Given the description of an element on the screen output the (x, y) to click on. 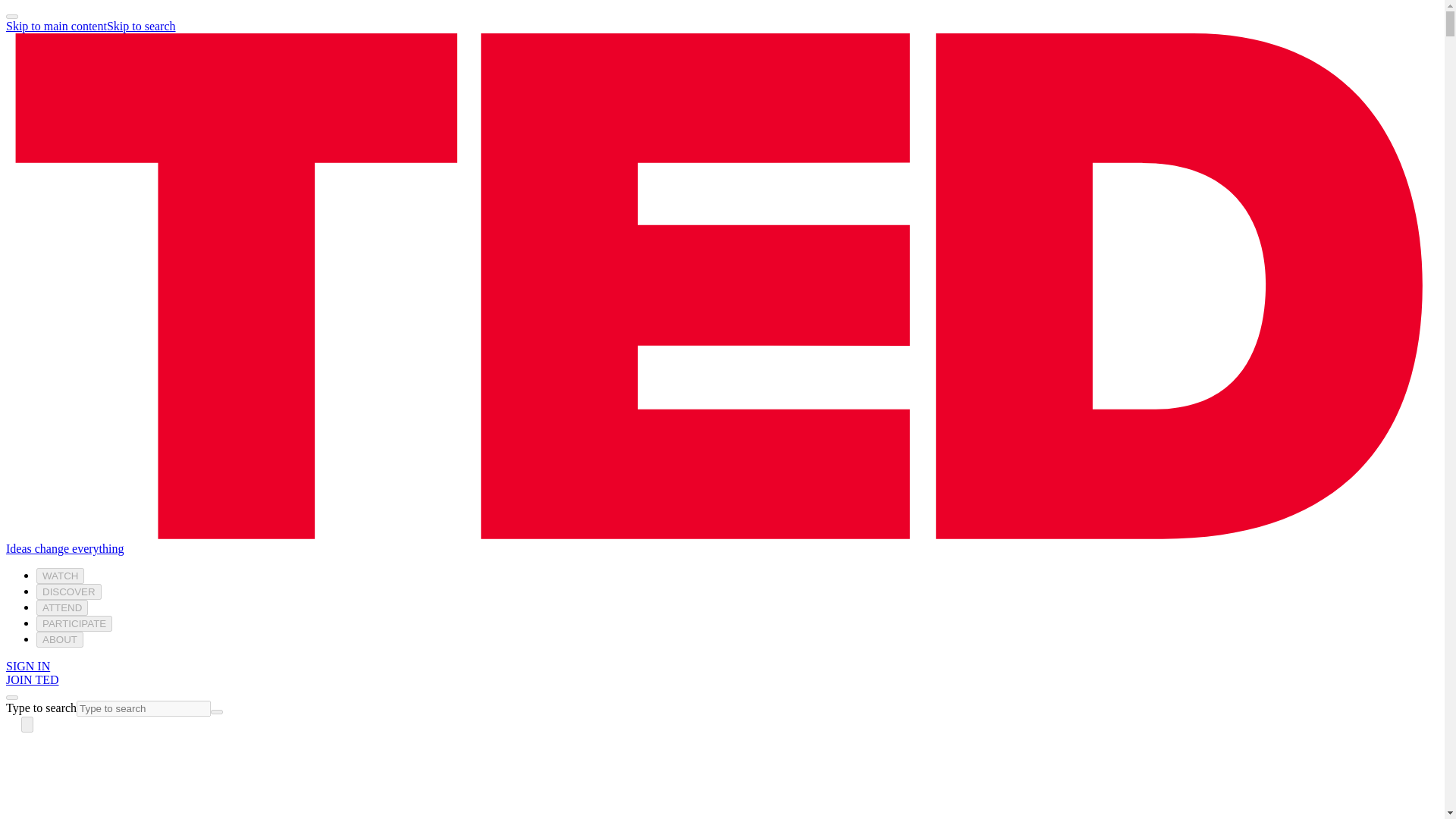
DISCOVER (68, 591)
ABOUT (59, 639)
ATTEND (61, 607)
WATCH (60, 575)
PARTICIPATE (74, 623)
Skip to main content (55, 25)
Skip to search (141, 25)
